Given the description of an element on the screen output the (x, y) to click on. 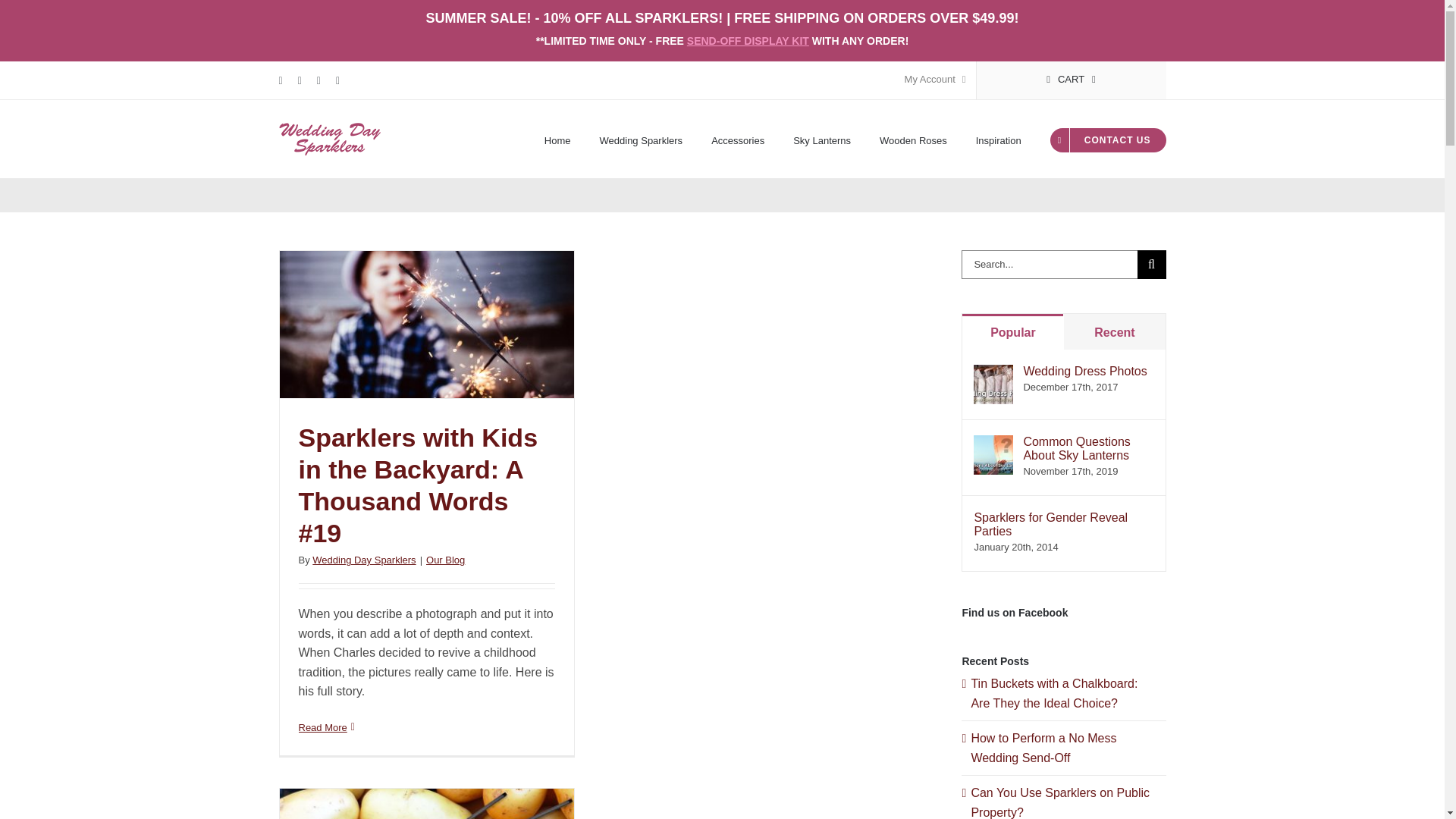
Our Blog (445, 559)
Wedding Sparklers (640, 138)
CART (1071, 80)
Log In (1034, 224)
Posts by Wedding Day Sparklers (363, 559)
My Account (935, 80)
Wedding Day Sparklers (363, 559)
Read More (322, 727)
CONTACT US (1107, 138)
